Given the description of an element on the screen output the (x, y) to click on. 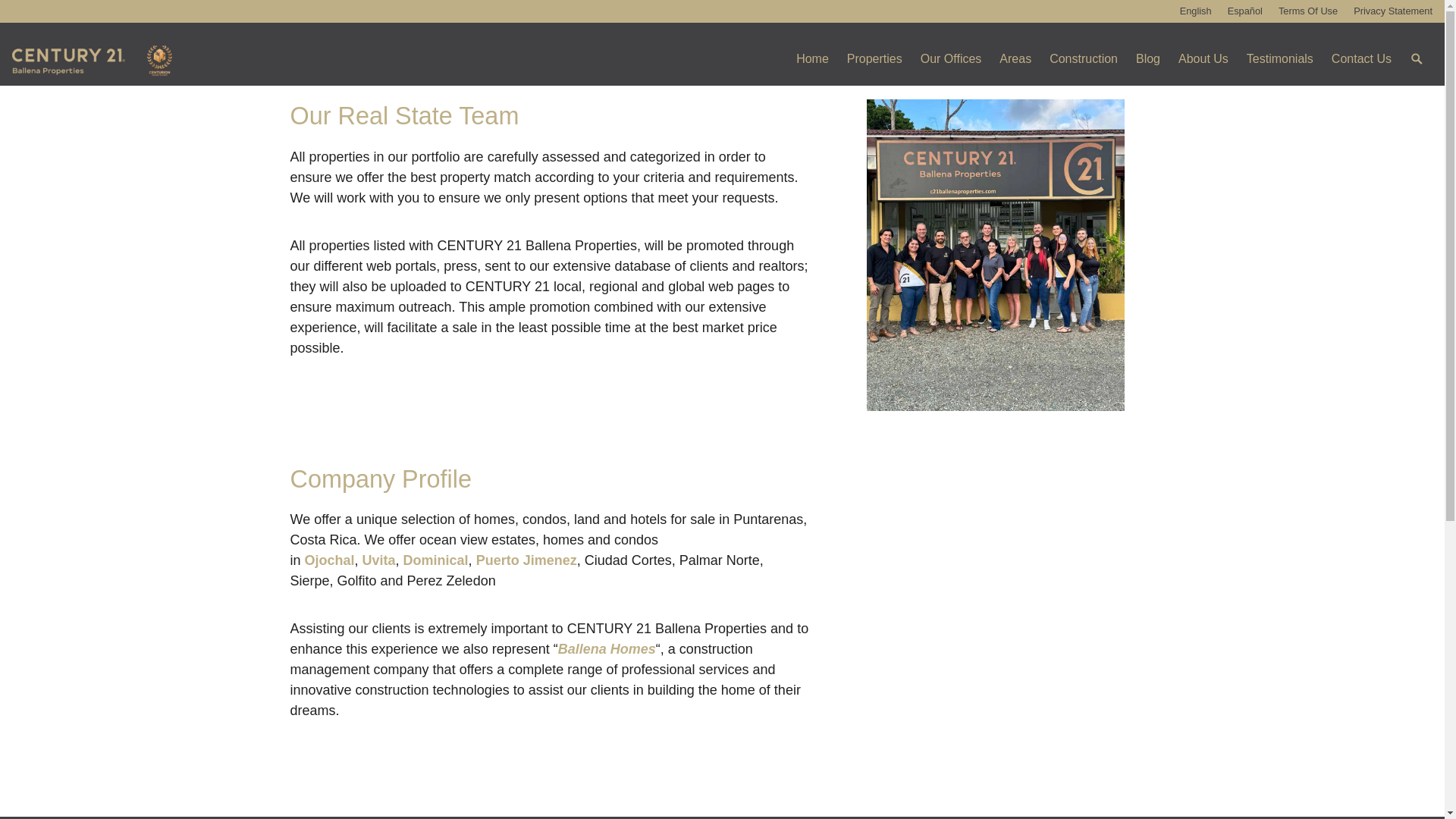
Our Offices (951, 59)
CENTURY 21 Ballena Properties (172, 60)
Properties (874, 59)
Home (812, 59)
Areas (1015, 59)
English (1195, 10)
Terms Of Use (1308, 10)
Privacy Statement (1393, 10)
